Given the description of an element on the screen output the (x, y) to click on. 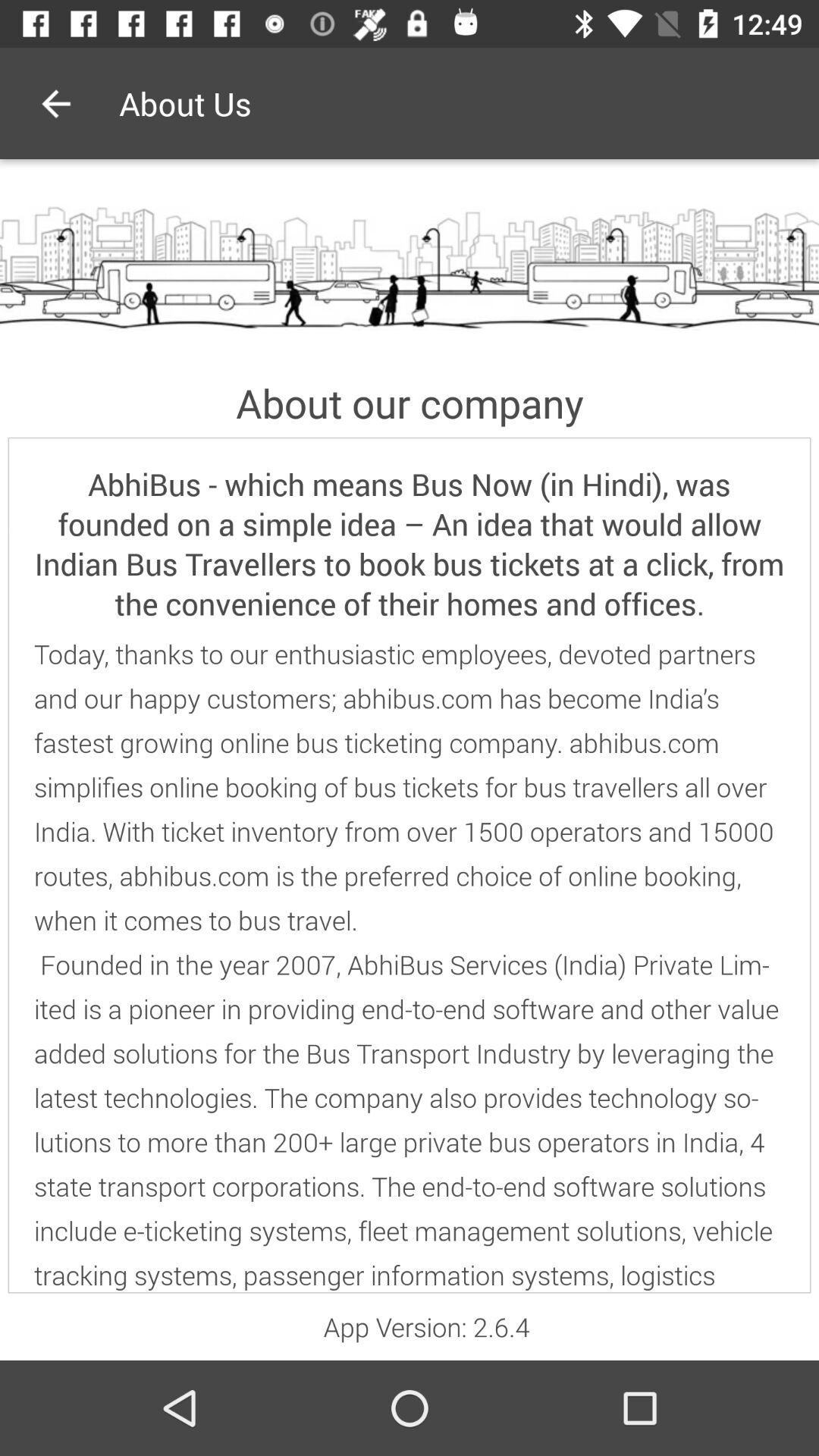
turn off the icon to the left of about us (55, 103)
